Given the description of an element on the screen output the (x, y) to click on. 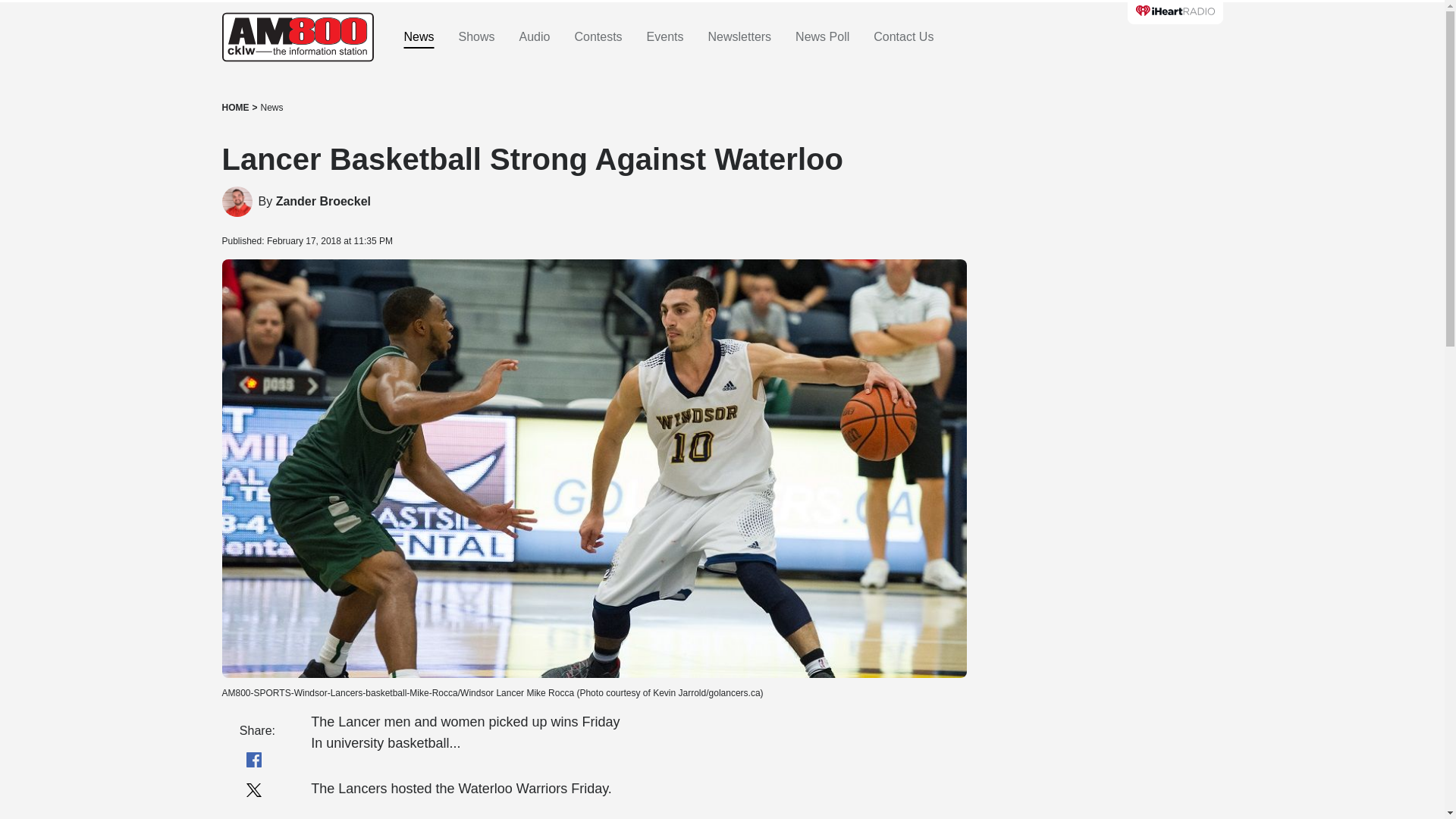
News Poll (821, 37)
Zander Broeckel (323, 201)
News (271, 107)
Contests (597, 37)
Contact Us (903, 37)
Zander Broeckel (236, 201)
Zander Broeckel (323, 201)
HOME (234, 107)
Newsletters (739, 37)
